Given the description of an element on the screen output the (x, y) to click on. 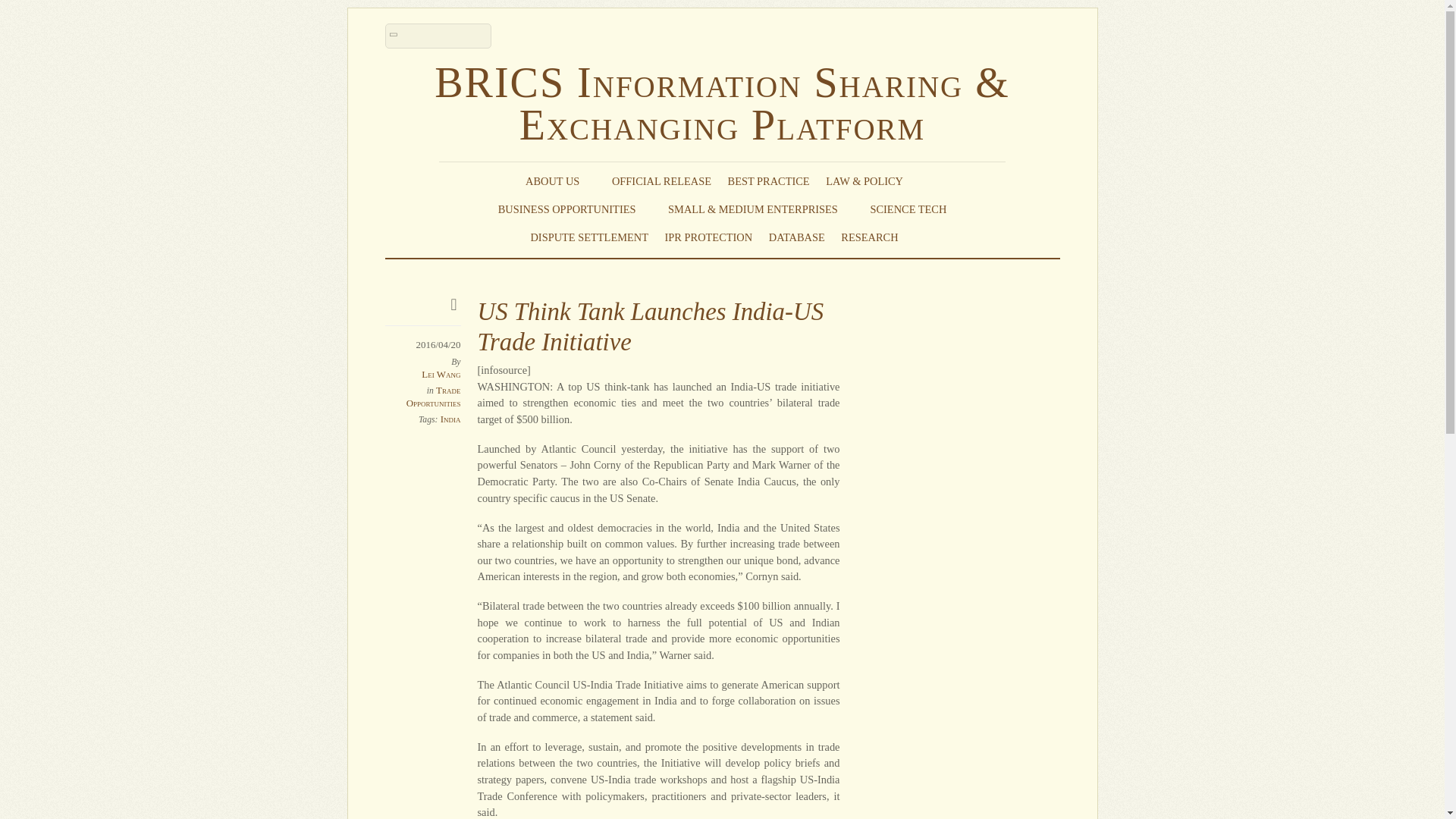
US Think Tank Launches India-US Trade Initiative (650, 326)
IPR PROTECTION (709, 237)
DISPUTE SETTLEMENT (588, 237)
India (451, 419)
Search (438, 35)
SCIENCE TECH (908, 209)
BEST PRACTICE (768, 180)
Trade Opportunities (433, 396)
DATABASE (796, 237)
RESEARCH (877, 237)
